Given the description of an element on the screen output the (x, y) to click on. 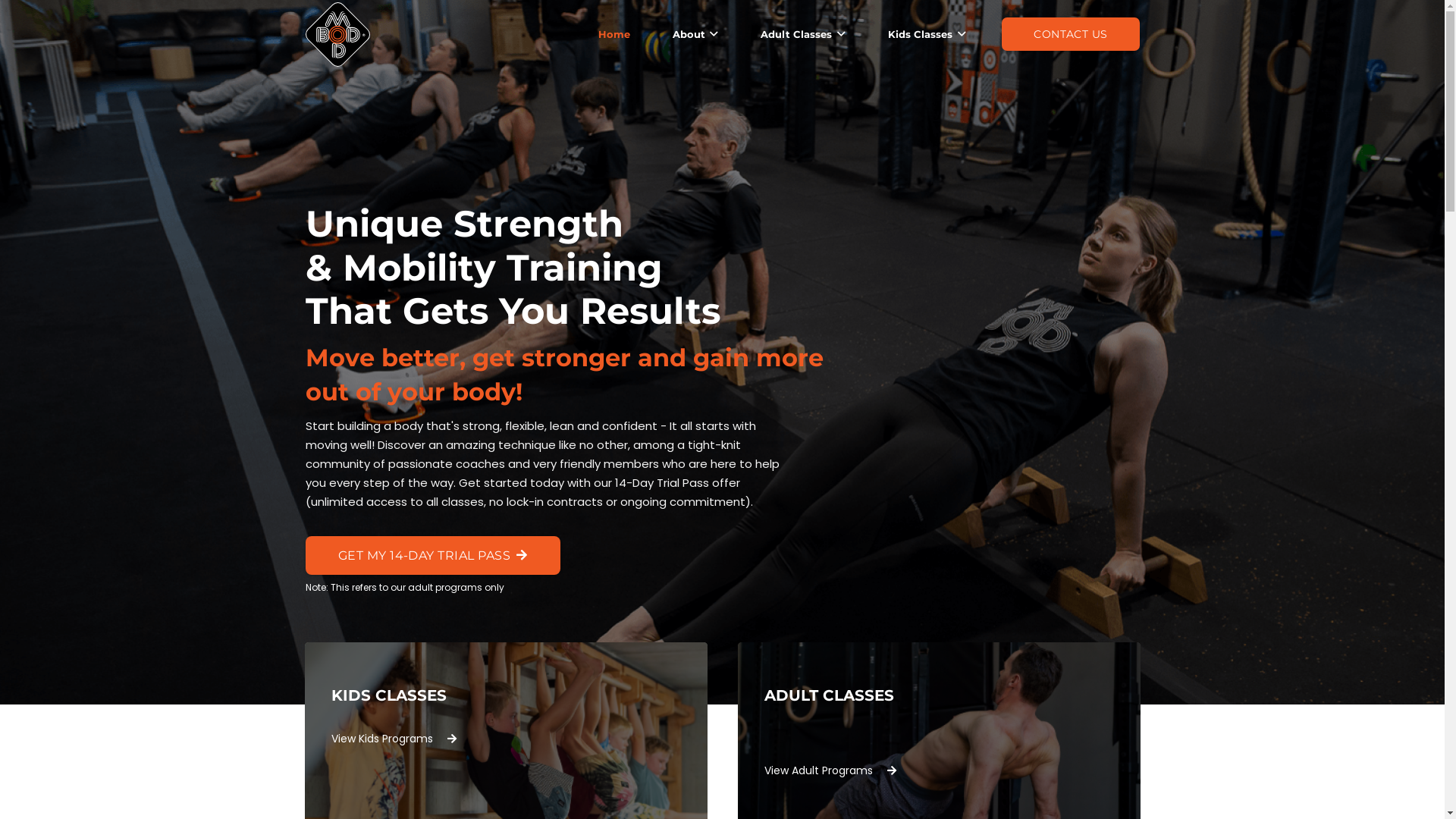
Home Element type: text (613, 34)
GET MY 14-DAY TRIAL PASS Element type: text (431, 555)
Adult Classes Element type: text (802, 34)
CONTACT US Element type: text (1070, 34)
Kids Classes Element type: text (926, 34)
About Element type: text (694, 34)
